Given the description of an element on the screen output the (x, y) to click on. 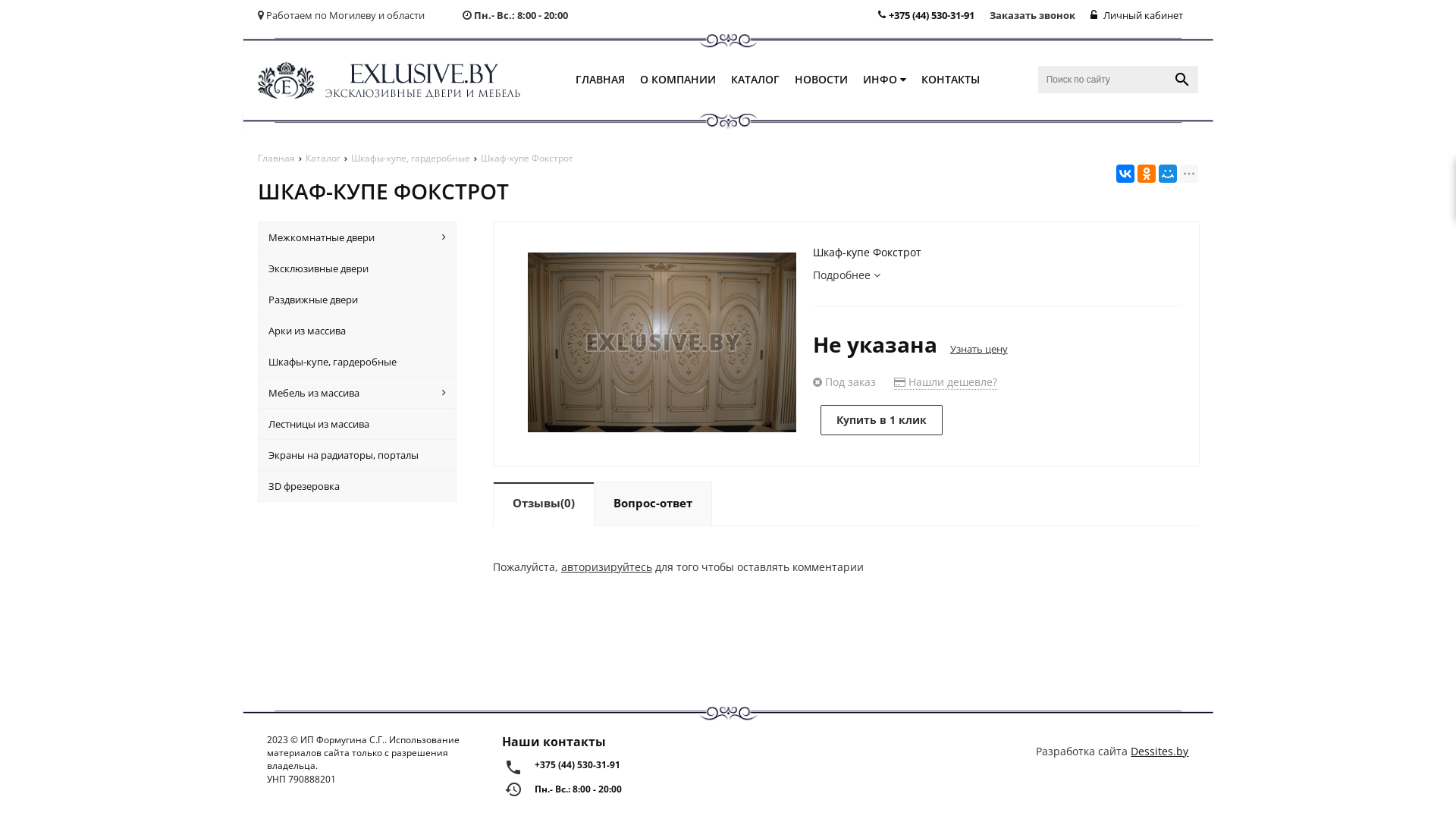
search Element type: text (1182, 79)
Dessites.by Element type: text (1159, 750)
+375 (44) 530-31-91 Element type: text (626, 764)
+375 (44) 530-31-91 Element type: text (926, 15)
